Given the description of an element on the screen output the (x, y) to click on. 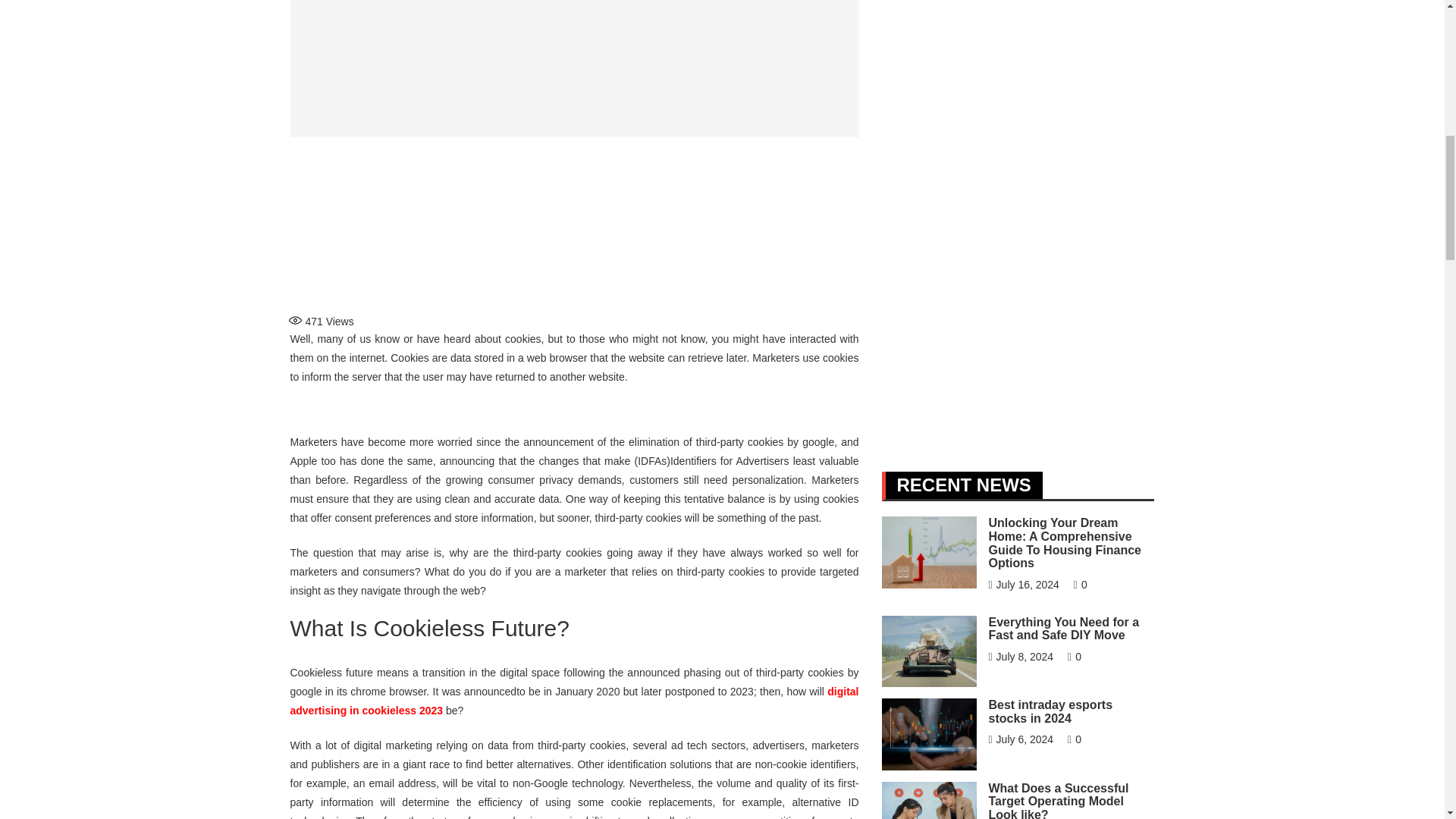
digital advertising in cookieless 2023 (574, 700)
July 16, 2024 (1023, 584)
Advertisement (574, 223)
Advertisement (1013, 214)
